Given the description of an element on the screen output the (x, y) to click on. 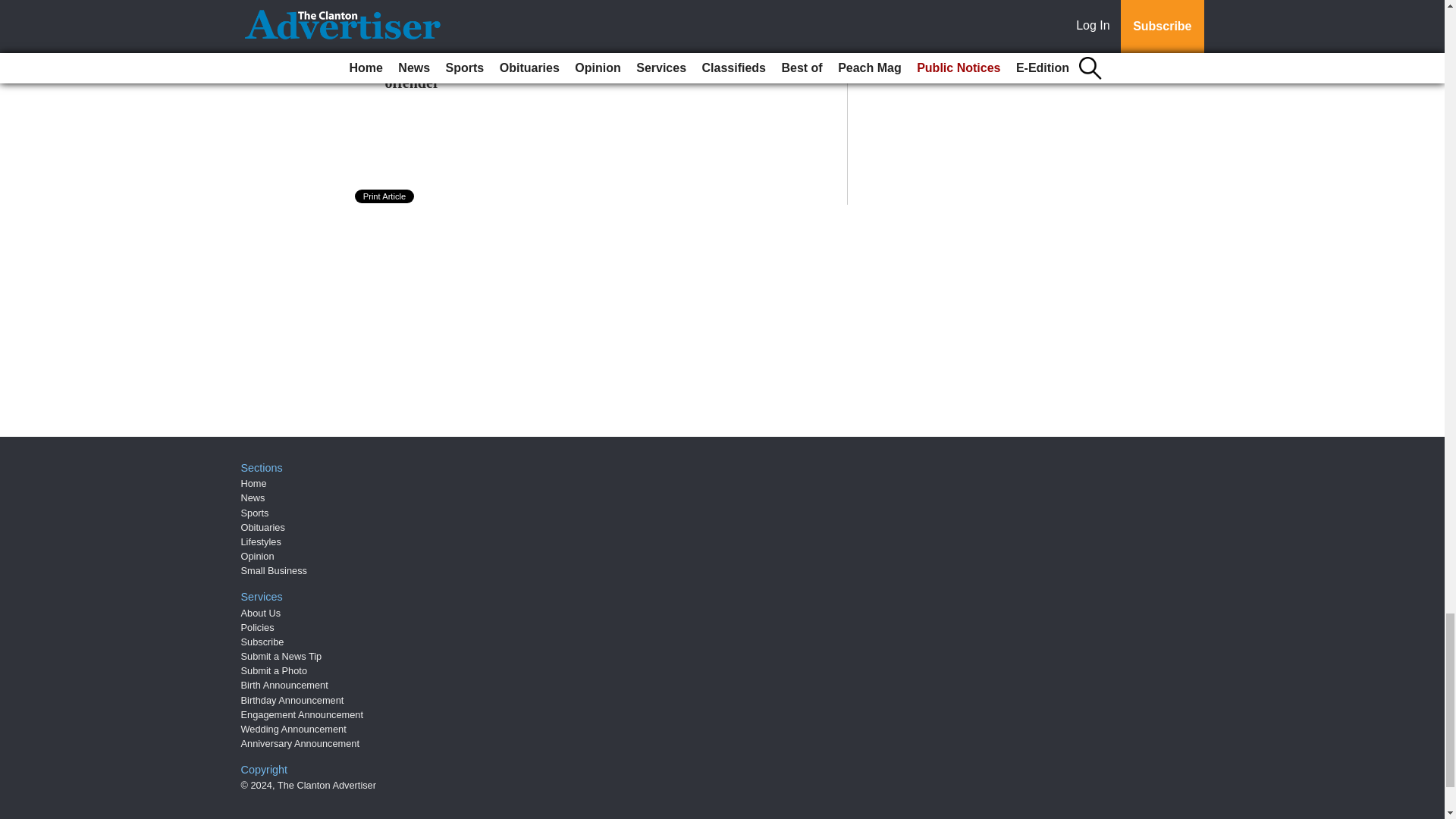
Board denies parole for Chilton offender (487, 73)
Print Article (384, 196)
Board denies parole for Chilton offender (487, 73)
